Given the description of an element on the screen output the (x, y) to click on. 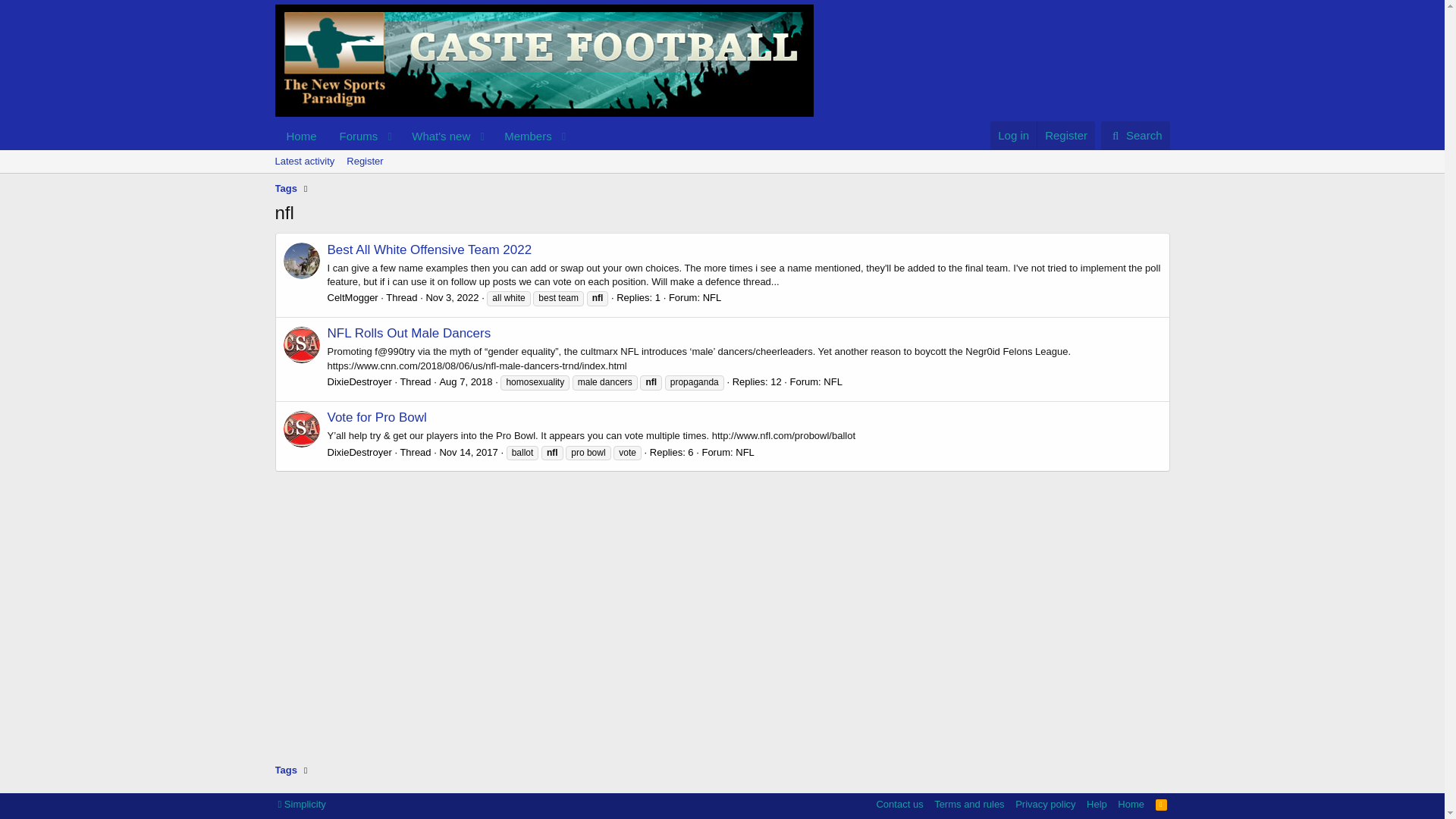
RSS (1161, 803)
Nov 3, 2022 at 9:45 PM (423, 153)
Home (452, 297)
Best All White Offensive Team 2022 (423, 135)
NFL Rolls Out Male Dancers (301, 135)
CeltMogger (429, 249)
Search (409, 332)
Members (352, 297)
